Given the description of an element on the screen output the (x, y) to click on. 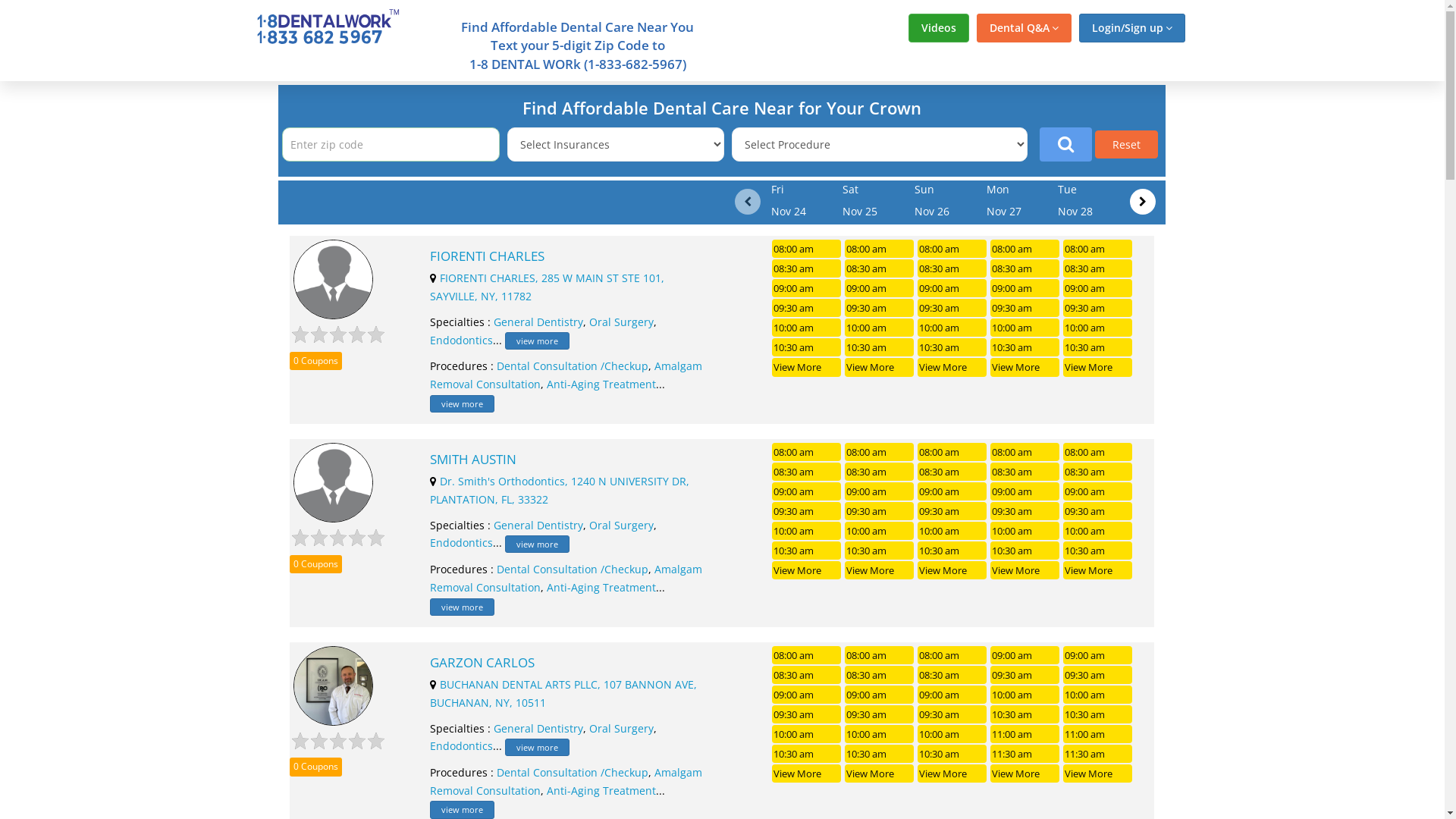
11:00 am Element type: text (1024, 733)
09:30 am Element type: text (805, 714)
09:00 am Element type: text (951, 288)
Anti-Aging Treatment Element type: text (600, 587)
08:00 am Element type: text (951, 451)
09:00 am Element type: text (1097, 655)
09:30 am Element type: text (1097, 511)
View More Element type: text (1097, 366)
10:00 am Element type: text (1024, 530)
Amalgam Removal Consultation Element type: text (565, 374)
09:00 am Element type: text (951, 694)
Endodontics Element type: text (460, 542)
View More Element type: text (1097, 570)
10:00 am Element type: text (951, 327)
View More Element type: text (805, 773)
11:30 am Element type: text (1024, 753)
10:00 am Element type: text (805, 327)
09:30 am Element type: text (951, 714)
08:30 am Element type: text (1097, 268)
Endodontics Element type: text (460, 745)
11:30 am Element type: text (1097, 753)
10:30 am Element type: text (951, 550)
View More Element type: text (951, 773)
Oral Surgery Element type: text (621, 524)
10:00 am Element type: text (878, 327)
View More Element type: text (805, 570)
10:00 am Element type: text (951, 733)
10:30 am Element type: text (878, 753)
10:00 am Element type: text (1097, 694)
10:00 am Element type: text (805, 733)
Oral Surgery Element type: text (621, 321)
10:00 am Element type: text (878, 530)
10:30 am Element type: text (1097, 714)
10:00 am Element type: text (1097, 327)
Login/Sign up Element type: text (1131, 27)
08:00 am Element type: text (878, 451)
View More Element type: text (1024, 773)
08:30 am Element type: text (878, 674)
08:00 am Element type: text (951, 655)
10:30 am Element type: text (805, 753)
09:30 am Element type: text (878, 511)
Advertisement Element type: hover (129, 308)
0 Coupons Element type: text (315, 564)
view more Element type: text (461, 606)
08:00 am Element type: text (1024, 451)
08:30 am Element type: text (951, 471)
09:00 am Element type: text (1024, 655)
08:00 am Element type: text (1024, 248)
08:00 am Element type: text (1097, 248)
08:00 am Element type: text (878, 248)
Dental Consultation /Checkup Element type: text (572, 365)
10:30 am Element type: text (878, 347)
10:30 am Element type: text (805, 550)
Reset Element type: text (1126, 144)
Dental Consultation /Checkup Element type: text (572, 568)
09:30 am Element type: text (951, 511)
08:30 am Element type: text (1097, 471)
Anti-Aging Treatment Element type: text (600, 383)
10:00 am Element type: text (951, 530)
09:00 am Element type: text (805, 288)
09:30 am Element type: text (951, 307)
0 Coupons Element type: text (315, 360)
08:30 am Element type: text (878, 471)
FIORENTI CHARLES Element type: text (567, 256)
General Dentistry Element type: text (538, 524)
Dental Q&A Element type: text (1023, 27)
10:30 am Element type: text (951, 347)
View More Element type: text (1097, 773)
08:00 am Element type: text (805, 451)
General Dentistry Element type: text (538, 728)
08:00 am Element type: text (878, 655)
09:30 am Element type: text (805, 511)
10:30 am Element type: text (1024, 550)
08:30 am Element type: text (805, 268)
View More Element type: text (878, 570)
09:30 am Element type: text (1024, 511)
10:30 am Element type: text (1024, 347)
10:30 am Element type: text (951, 753)
08:00 am Element type: text (805, 248)
09:30 am Element type: text (878, 307)
10:00 am Element type: text (878, 733)
09:00 am Element type: text (878, 491)
Advertisement Element type: hover (1313, 308)
08:00 am Element type: text (1097, 451)
08:00 am Element type: text (951, 248)
09:00 am Element type: text (1024, 288)
GARZON CARLOS Element type: text (567, 662)
09:00 am Element type: text (951, 491)
10:30 am Element type: text (1097, 550)
Oral Surgery Element type: text (621, 728)
09:00 am Element type: text (805, 694)
09:00 am Element type: text (805, 491)
view more Element type: text (537, 543)
09:30 am Element type: text (1097, 674)
08:30 am Element type: text (805, 471)
09:30 am Element type: text (805, 307)
09:30 am Element type: text (1024, 674)
Amalgam Removal Consultation Element type: text (565, 577)
08:30 am Element type: text (878, 268)
General Dentistry Element type: text (538, 321)
09:00 am Element type: text (1024, 491)
08:30 am Element type: text (1024, 471)
09:00 am Element type: text (878, 288)
Endodontics Element type: text (460, 339)
View More Element type: text (805, 366)
10:30 am Element type: text (878, 550)
08:30 am Element type: text (951, 674)
Anti-Aging Treatment Element type: text (600, 790)
View More Element type: text (878, 773)
08:30 am Element type: text (805, 674)
View More Element type: text (951, 366)
10:00 am Element type: text (1097, 530)
08:00 am Element type: text (805, 655)
View More Element type: text (1024, 366)
View More Element type: text (878, 366)
10:30 am Element type: text (805, 347)
0 Coupons Element type: text (315, 766)
Videos Element type: text (938, 27)
10:00 am Element type: text (805, 530)
10:00 am Element type: text (1024, 694)
view more Element type: text (537, 340)
08:30 am Element type: text (951, 268)
View More Element type: text (951, 570)
09:30 am Element type: text (878, 714)
09:30 am Element type: text (1024, 307)
View More Element type: text (1024, 570)
09:00 am Element type: text (878, 694)
11:00 am Element type: text (1097, 733)
FIORENTI CHARLES, 285 W MAIN ST STE 101, SAYVILLE, NY, 11782 Element type: text (546, 286)
10:30 am Element type: text (1097, 347)
SMITH AUSTIN Element type: text (567, 459)
09:30 am Element type: text (1097, 307)
08:30 am Element type: text (1024, 268)
09:00 am Element type: text (1097, 288)
view more Element type: text (461, 403)
view more Element type: text (461, 809)
10:00 am Element type: text (1024, 327)
view more Element type: text (537, 747)
10:30 am Element type: text (1024, 714)
Dental Consultation /Checkup Element type: text (572, 772)
Amalgam Removal Consultation Element type: text (565, 781)
09:00 am Element type: text (1097, 491)
